Given the description of an element on the screen output the (x, y) to click on. 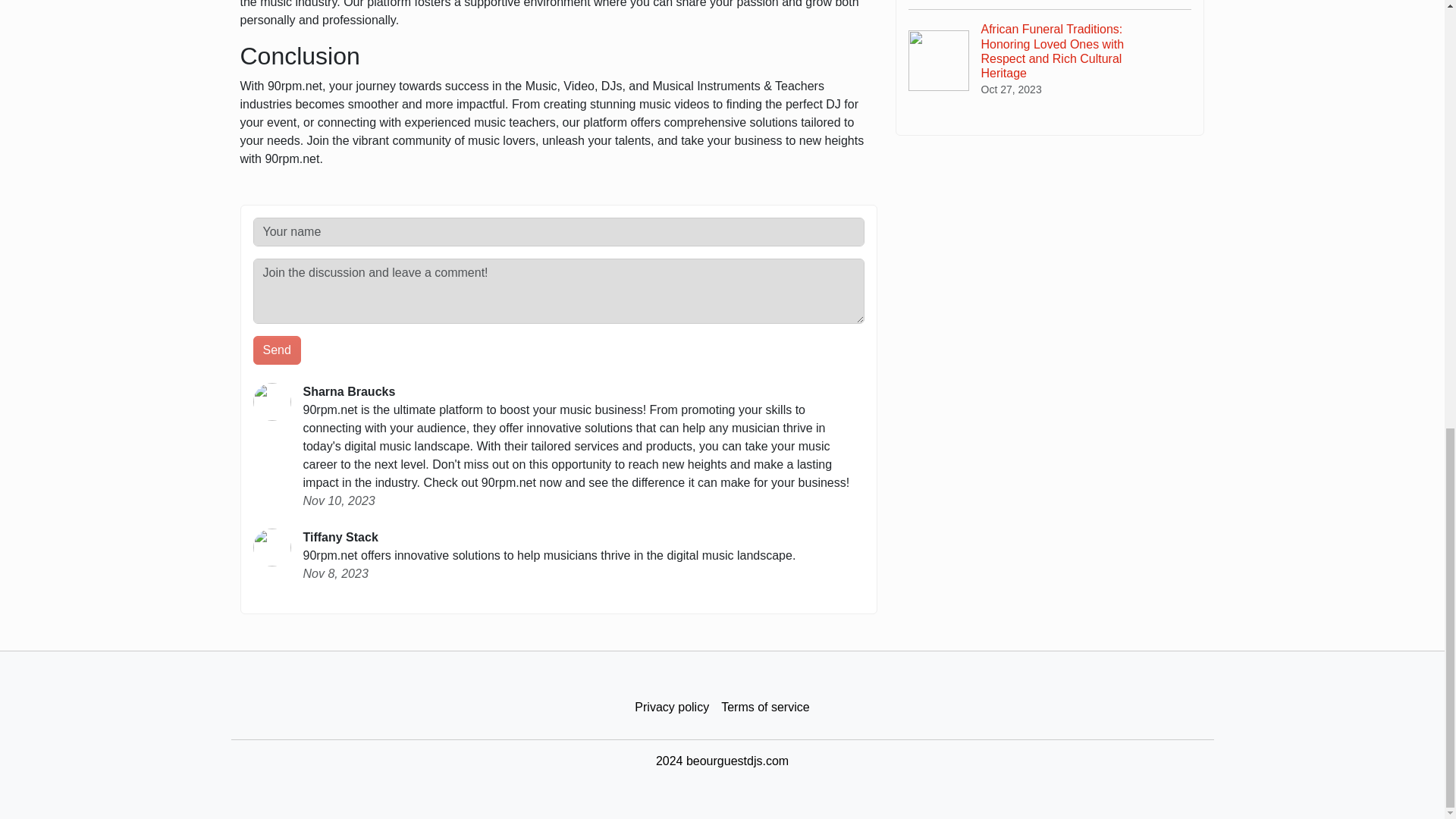
Terms of service (764, 707)
Privacy policy (671, 707)
Send (277, 349)
Send (277, 349)
